Given the description of an element on the screen output the (x, y) to click on. 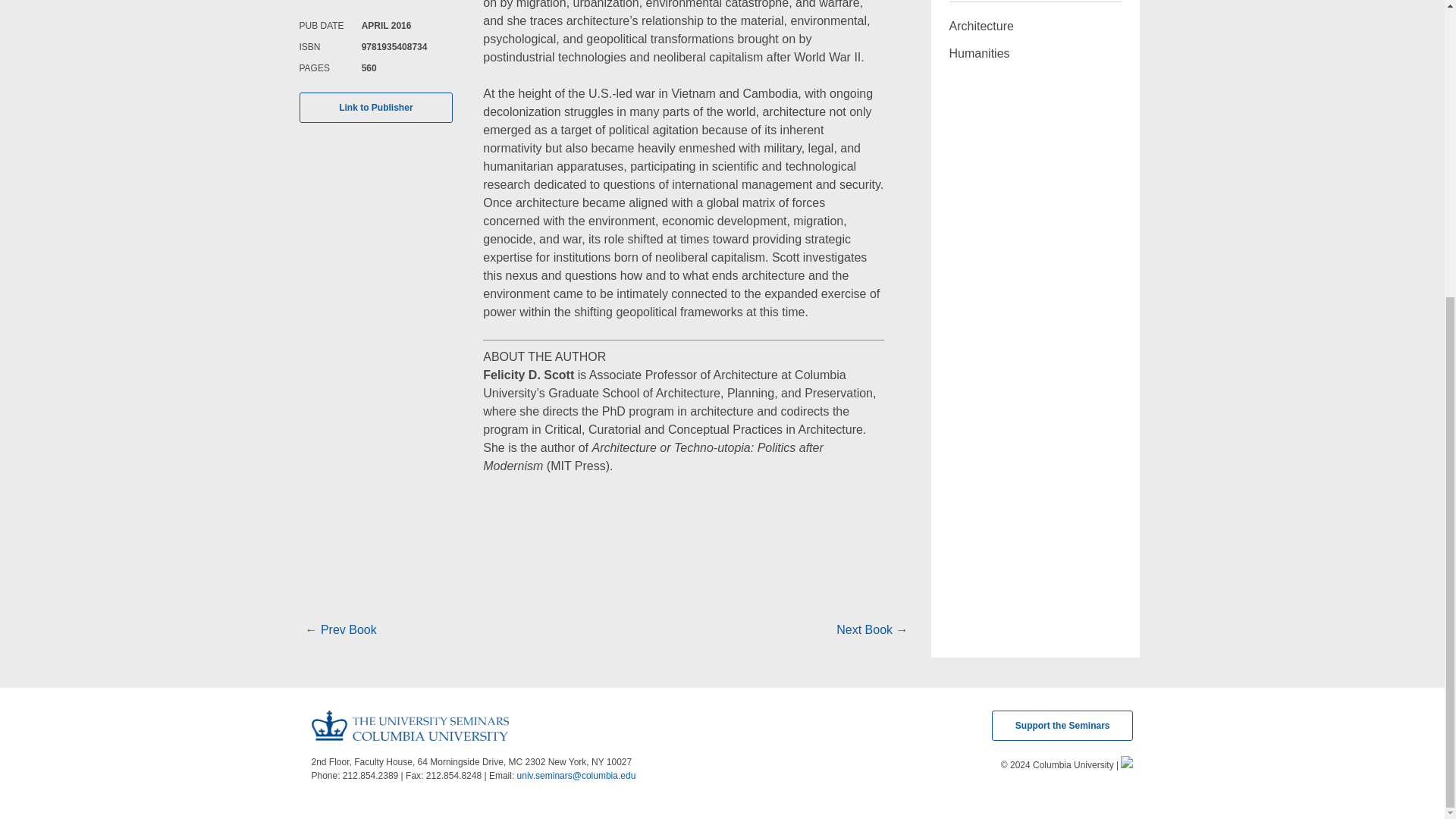
Support the Seminars (1062, 725)
Link to Publisher (375, 107)
